Given the description of an element on the screen output the (x, y) to click on. 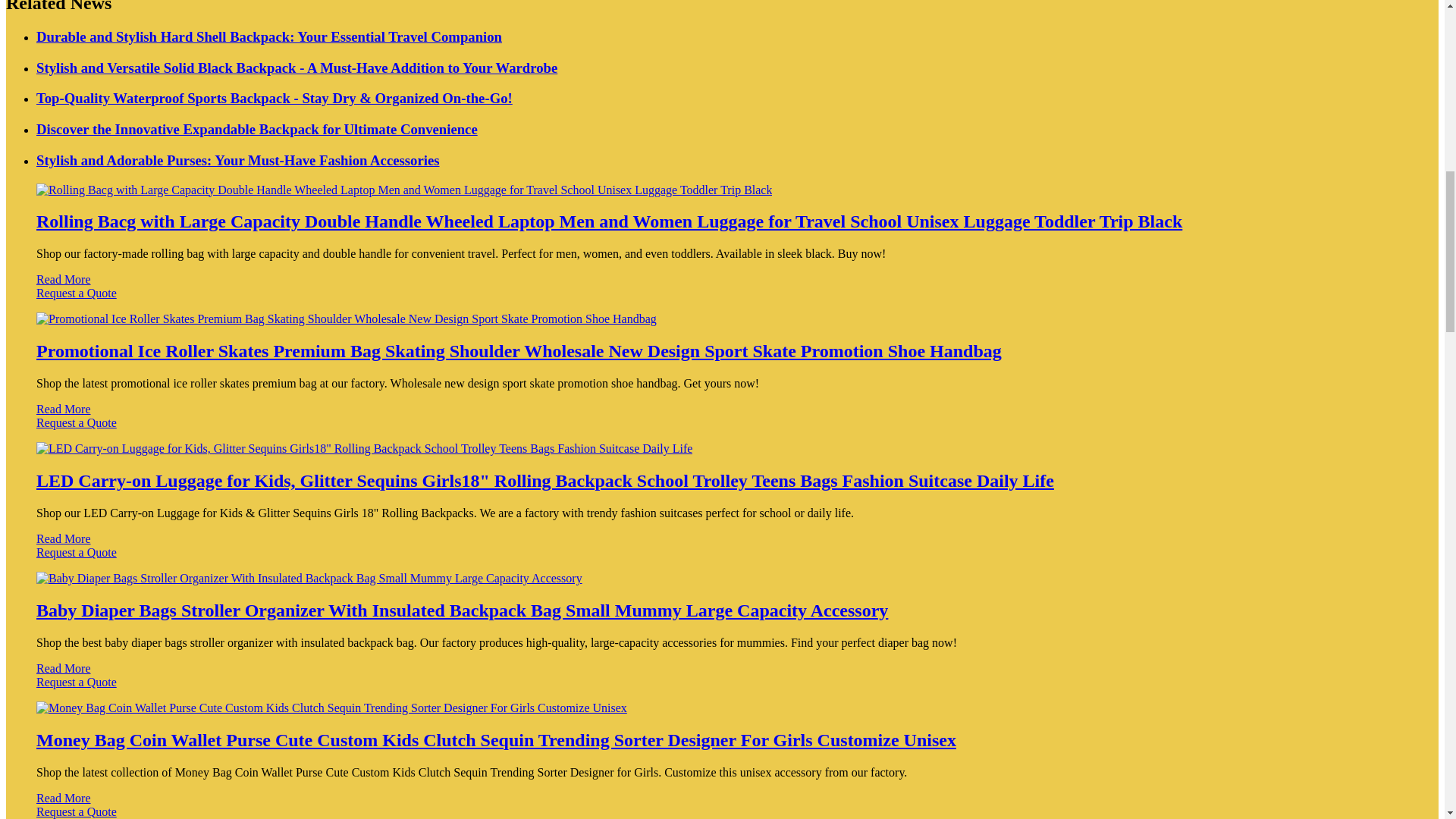
Read More (63, 408)
Request a Quote (721, 299)
Request a Quote (721, 429)
Read More (63, 538)
Read More (63, 278)
Request a Quote (721, 559)
